Given the description of an element on the screen output the (x, y) to click on. 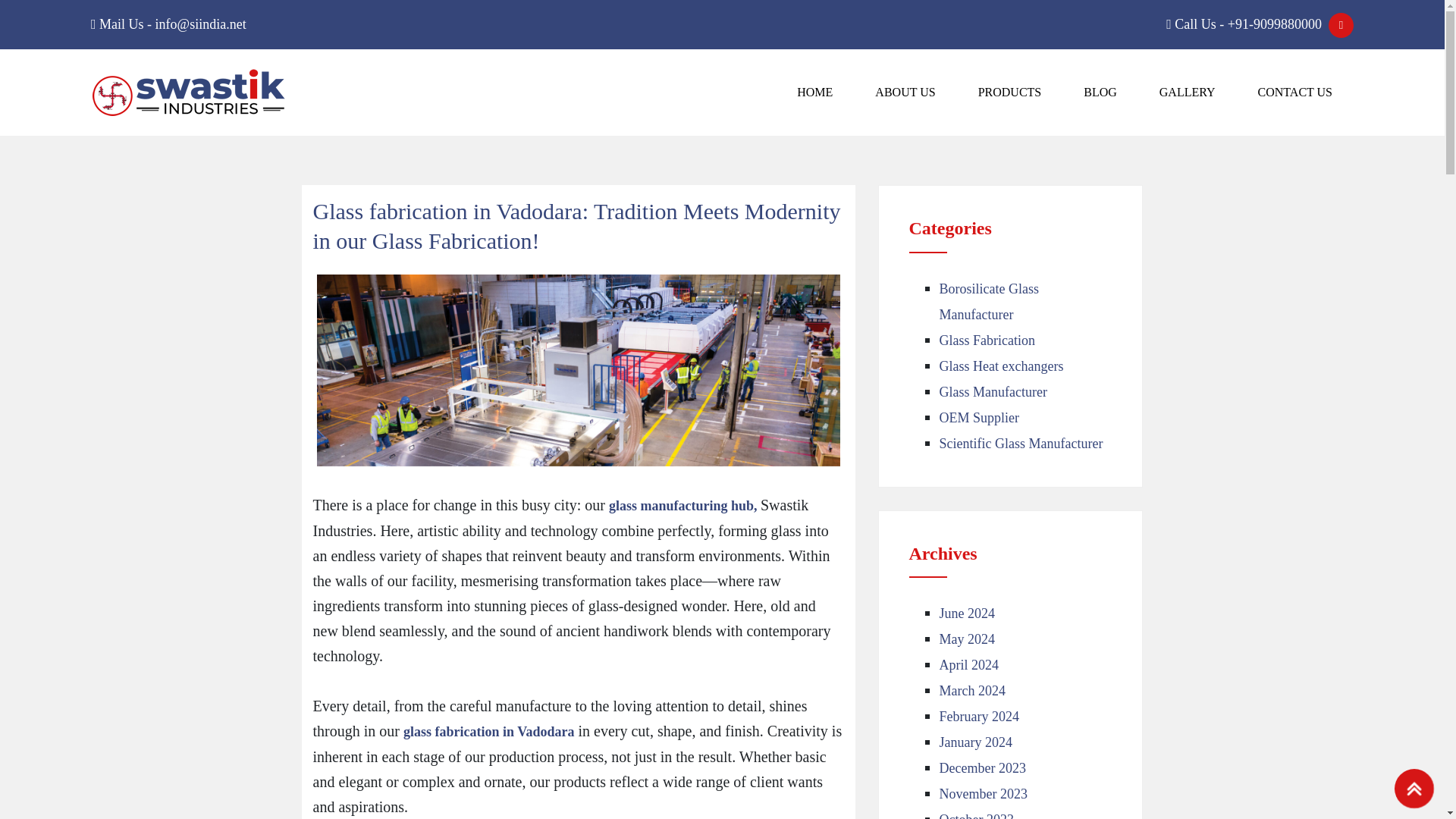
Contact Us (1295, 92)
June 2024 (966, 613)
About us (904, 92)
Scientific Glass Manufacturer (1020, 443)
Blog (1100, 92)
glass fabrication in Vadodara (489, 731)
Glass Manufacturer (992, 391)
October 2023 (976, 815)
Borosilicate Glass Manufacturer (988, 301)
May 2024 (966, 639)
Glass Fabrication (986, 340)
Gallery (1187, 92)
Home (814, 92)
January 2024 (975, 742)
PRODUCTS (1009, 92)
